Given the description of an element on the screen output the (x, y) to click on. 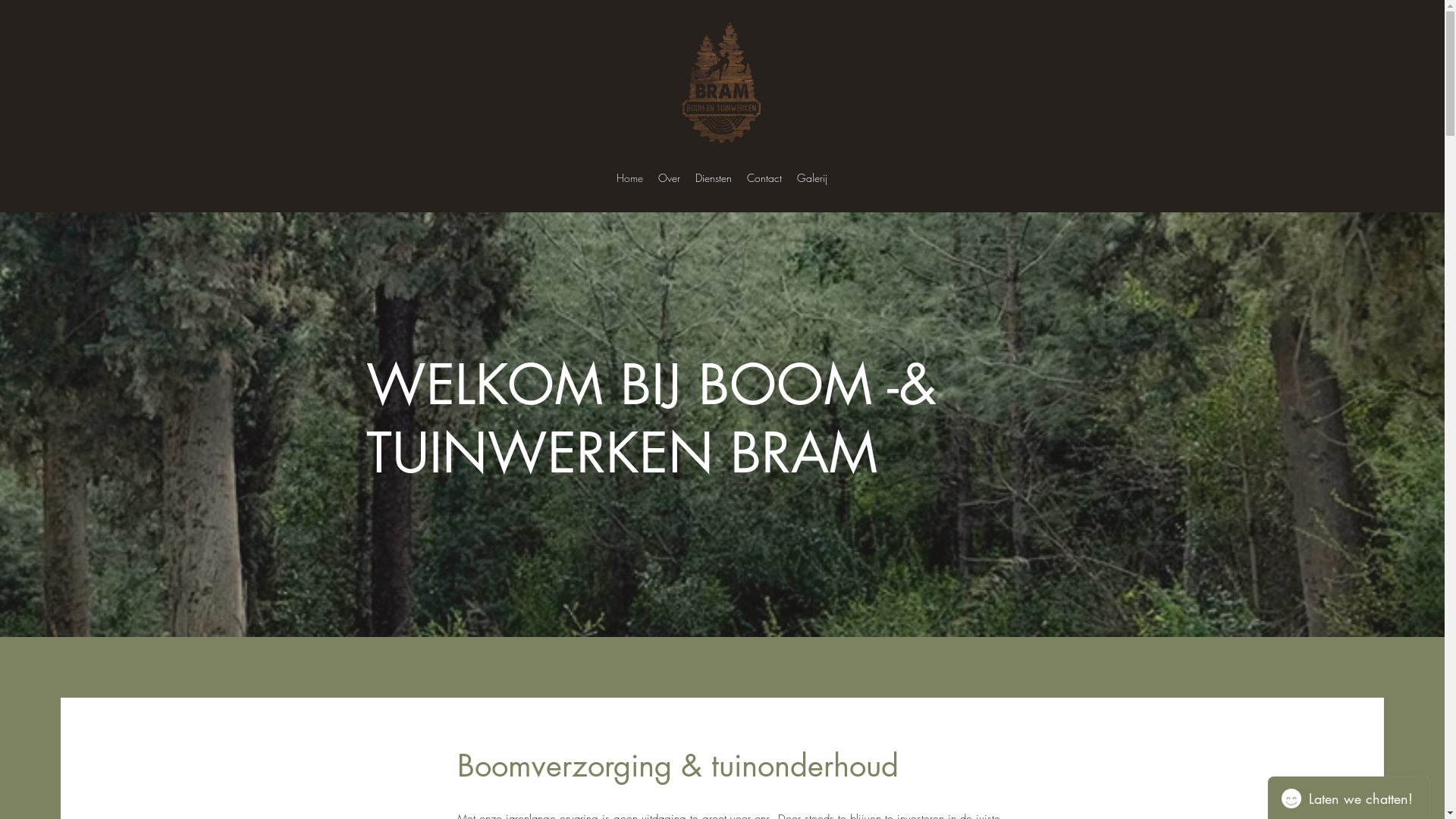
Home Element type: text (629, 177)
Diensten Element type: text (713, 177)
Galerij Element type: text (811, 177)
Contact Element type: text (764, 177)
Over Element type: text (668, 177)
